Given the description of an element on the screen output the (x, y) to click on. 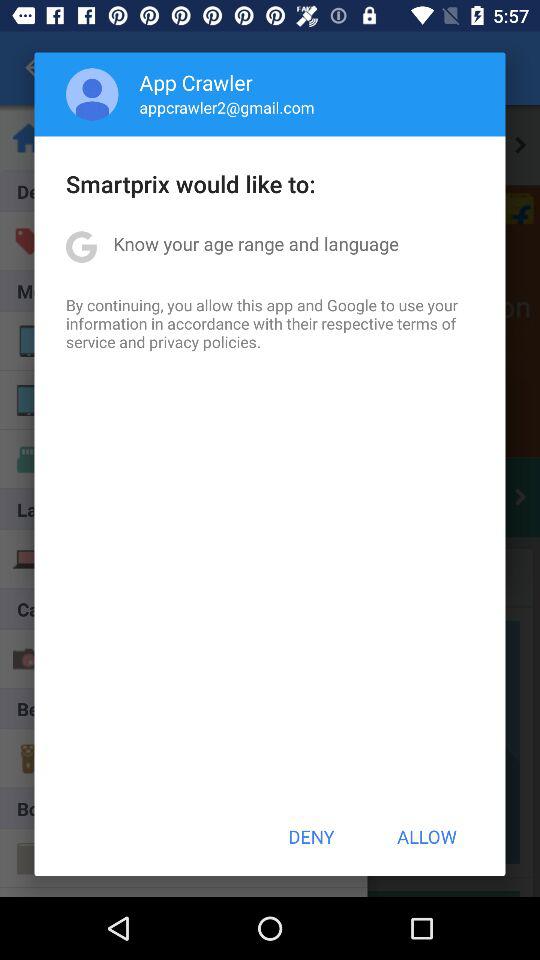
choose app next to the app crawler app (92, 94)
